Given the description of an element on the screen output the (x, y) to click on. 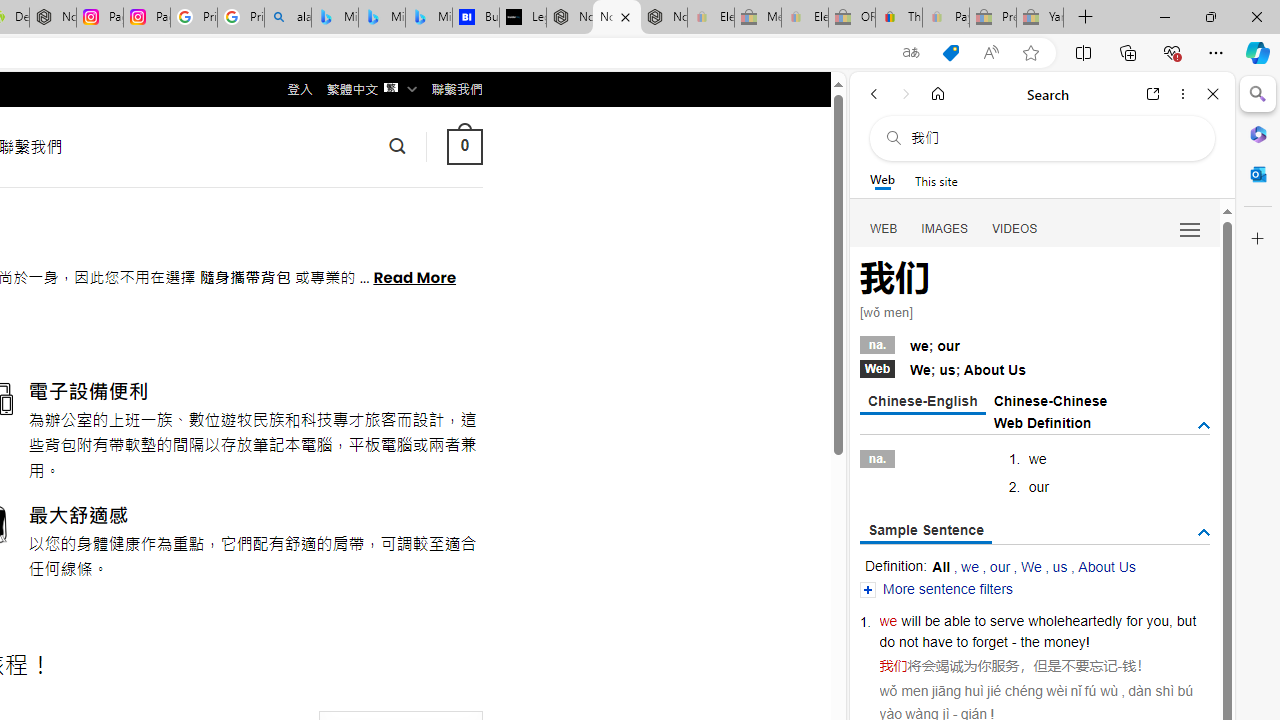
we (888, 620)
wholeheartedly (1074, 620)
alabama high school quarterback dies - Search (288, 17)
- (1119, 665)
This site has coupons! Shopping in Microsoft Edge (950, 53)
